Given the description of an element on the screen output the (x, y) to click on. 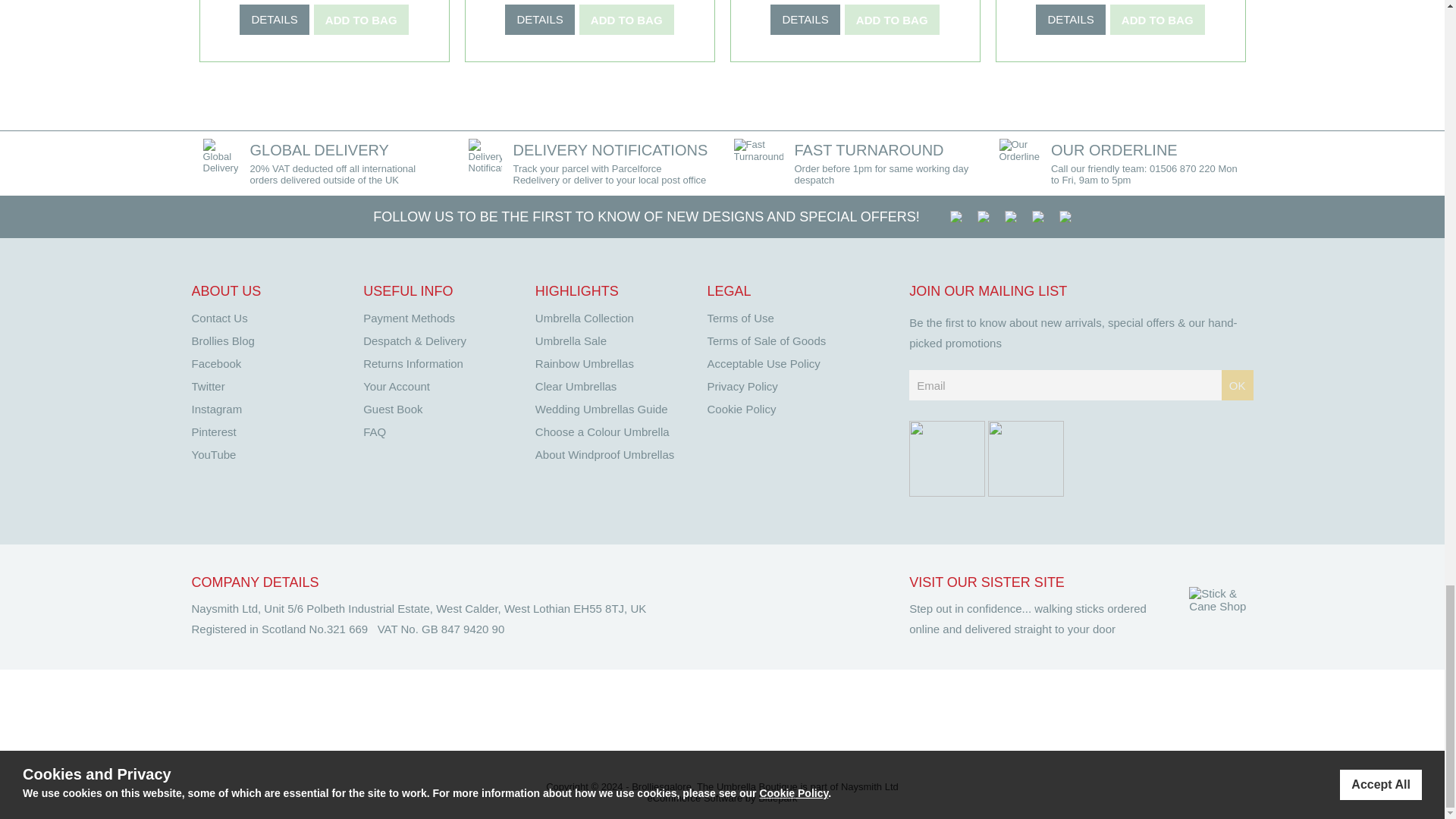
ADD TO BAG (1157, 19)
DETAILS (805, 19)
DETAILS (274, 19)
ADD TO BAG (891, 19)
ADD TO BAG (361, 19)
DETAILS (539, 19)
ADD TO BAG (626, 19)
DETAILS (1070, 19)
